Given the description of an element on the screen output the (x, y) to click on. 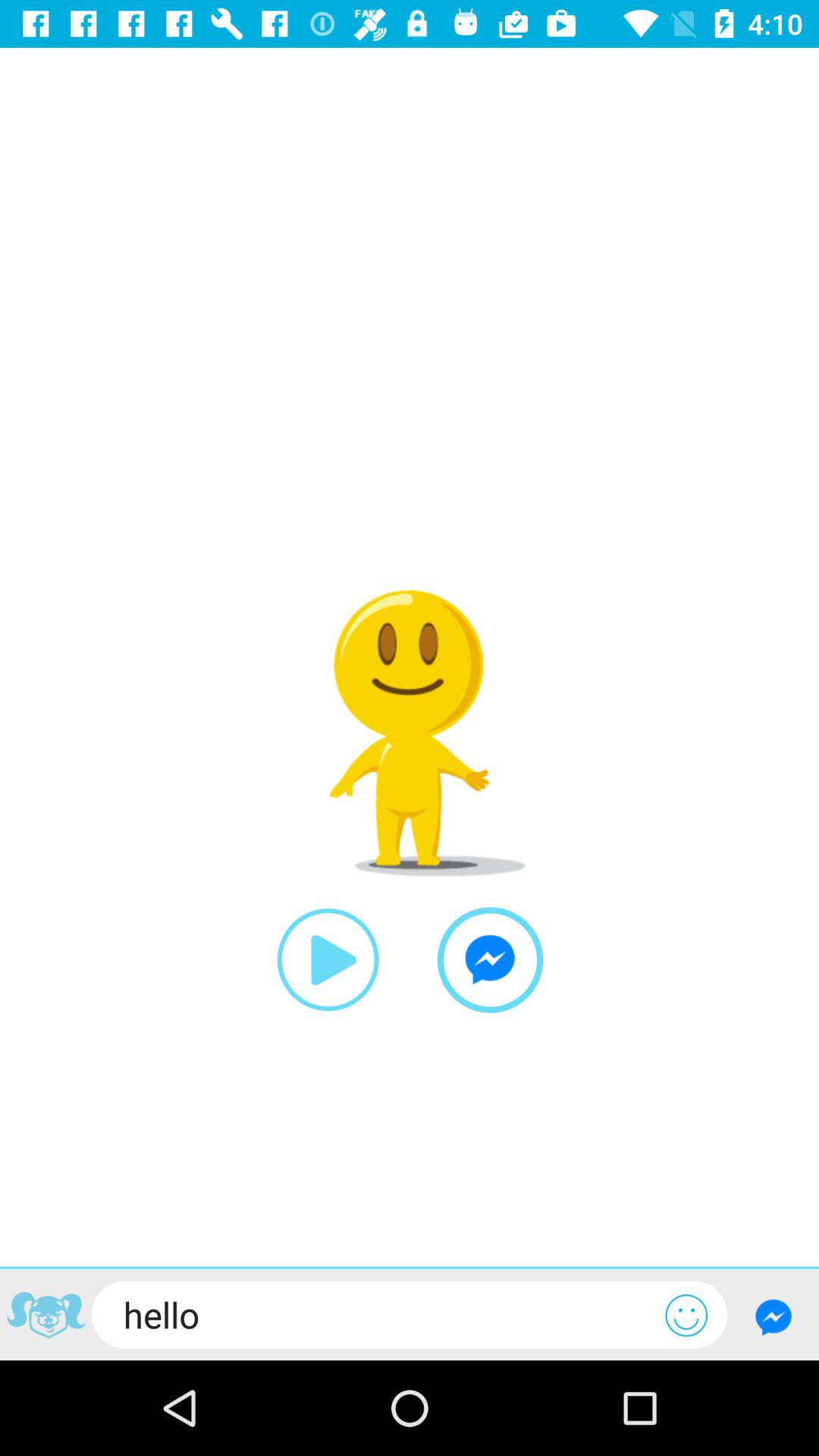
toggle to enter emoji (686, 1315)
